Given the description of an element on the screen output the (x, y) to click on. 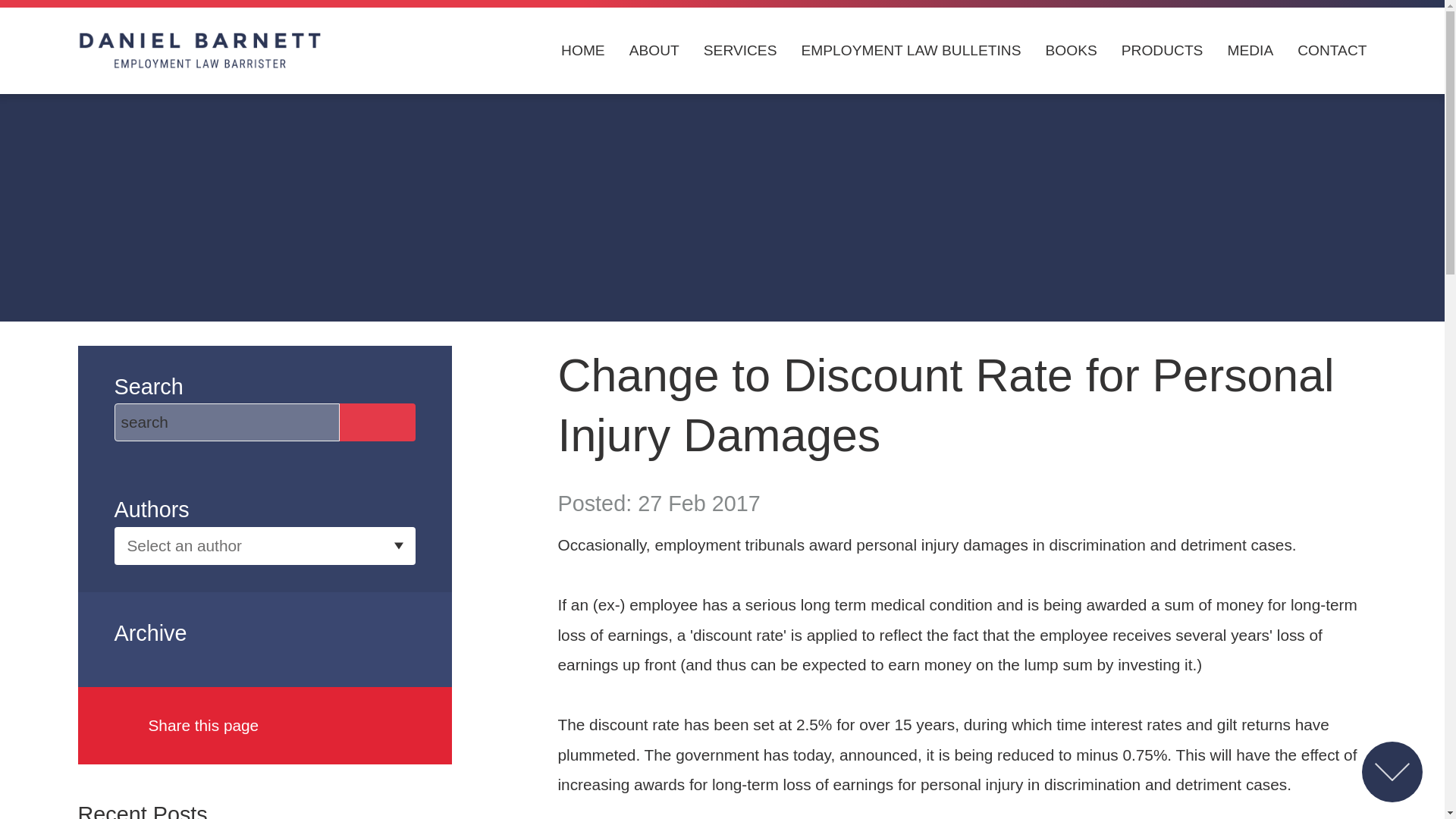
EMPLOYMENT LAW BULLETINS (910, 51)
ABOUT (653, 51)
HOME (582, 51)
search (226, 422)
CONTACT (1332, 51)
PRODUCTS (1162, 51)
search (226, 422)
MEDIA (1249, 51)
BOOKS (1070, 51)
SERVICES (740, 51)
